Given the description of an element on the screen output the (x, y) to click on. 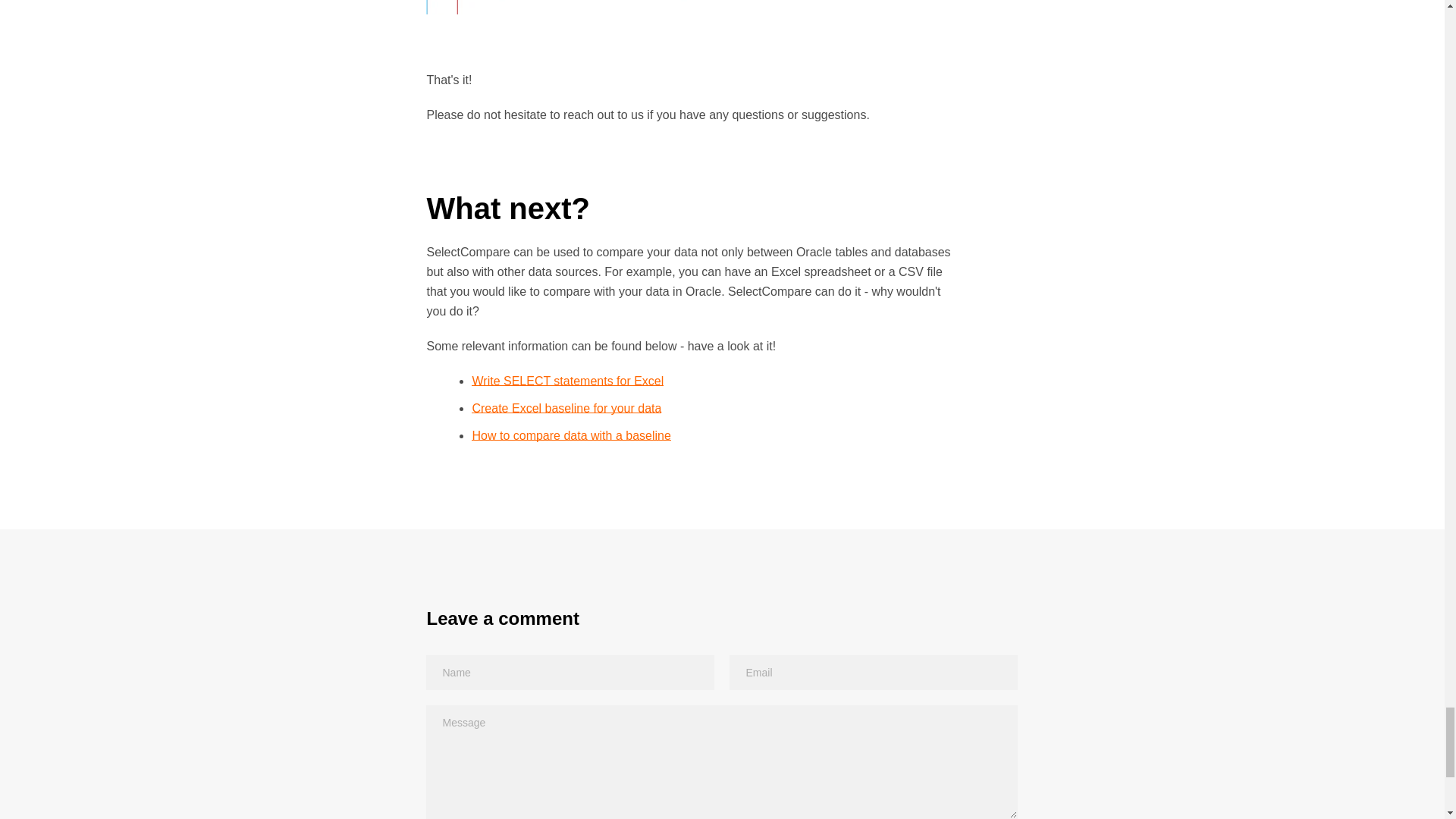
How to create an Excel baseline for the data (566, 408)
Write SELECT statements for Excel (567, 380)
How to compare data with baseline (570, 435)
Create Excel baseline for your data (566, 408)
How to write SELECT statements for Excel spreadsheets (567, 380)
How to compare data with a baseline (570, 435)
